Given the description of an element on the screen output the (x, y) to click on. 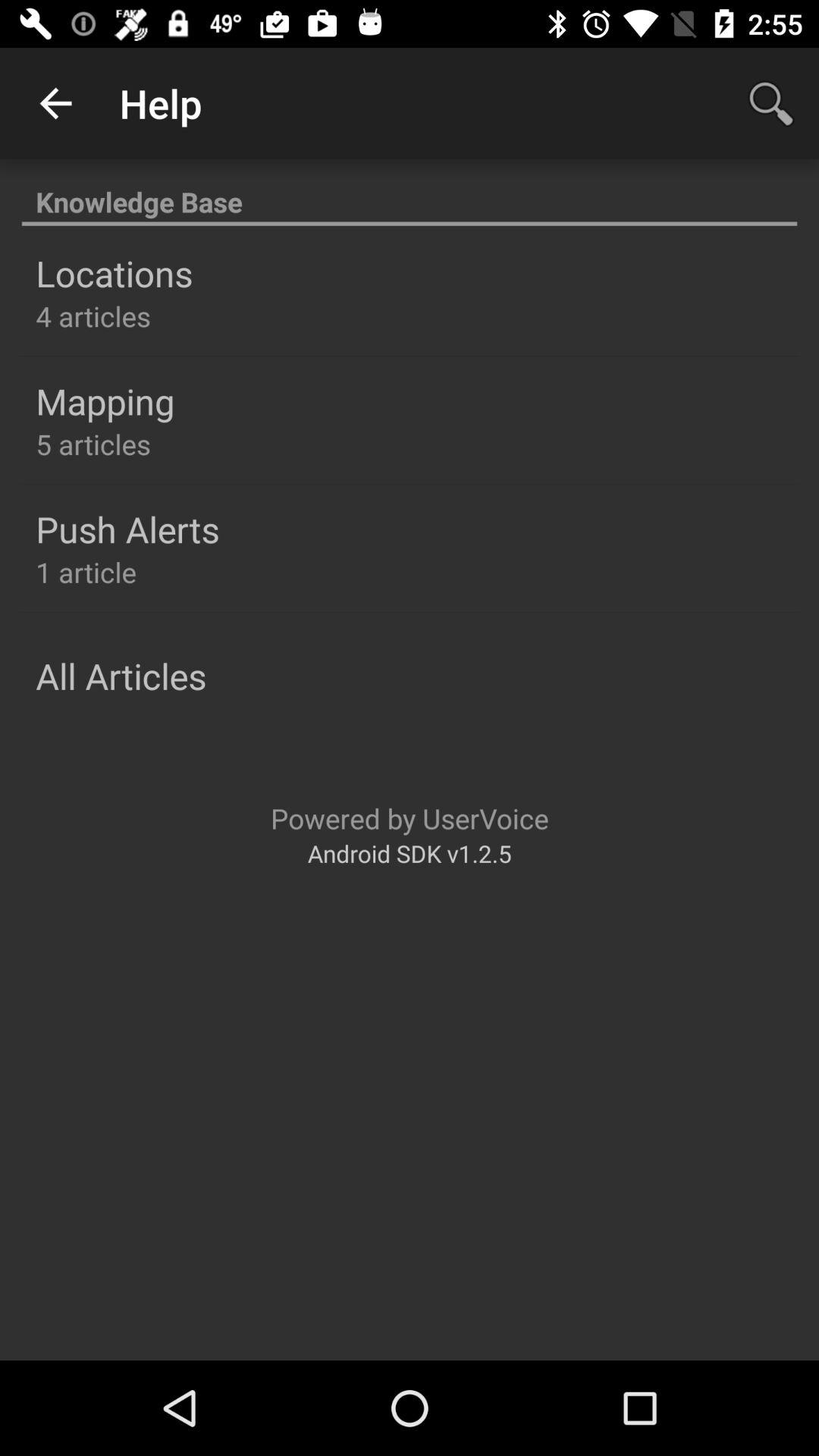
choose powered by uservoice item (409, 818)
